Given the description of an element on the screen output the (x, y) to click on. 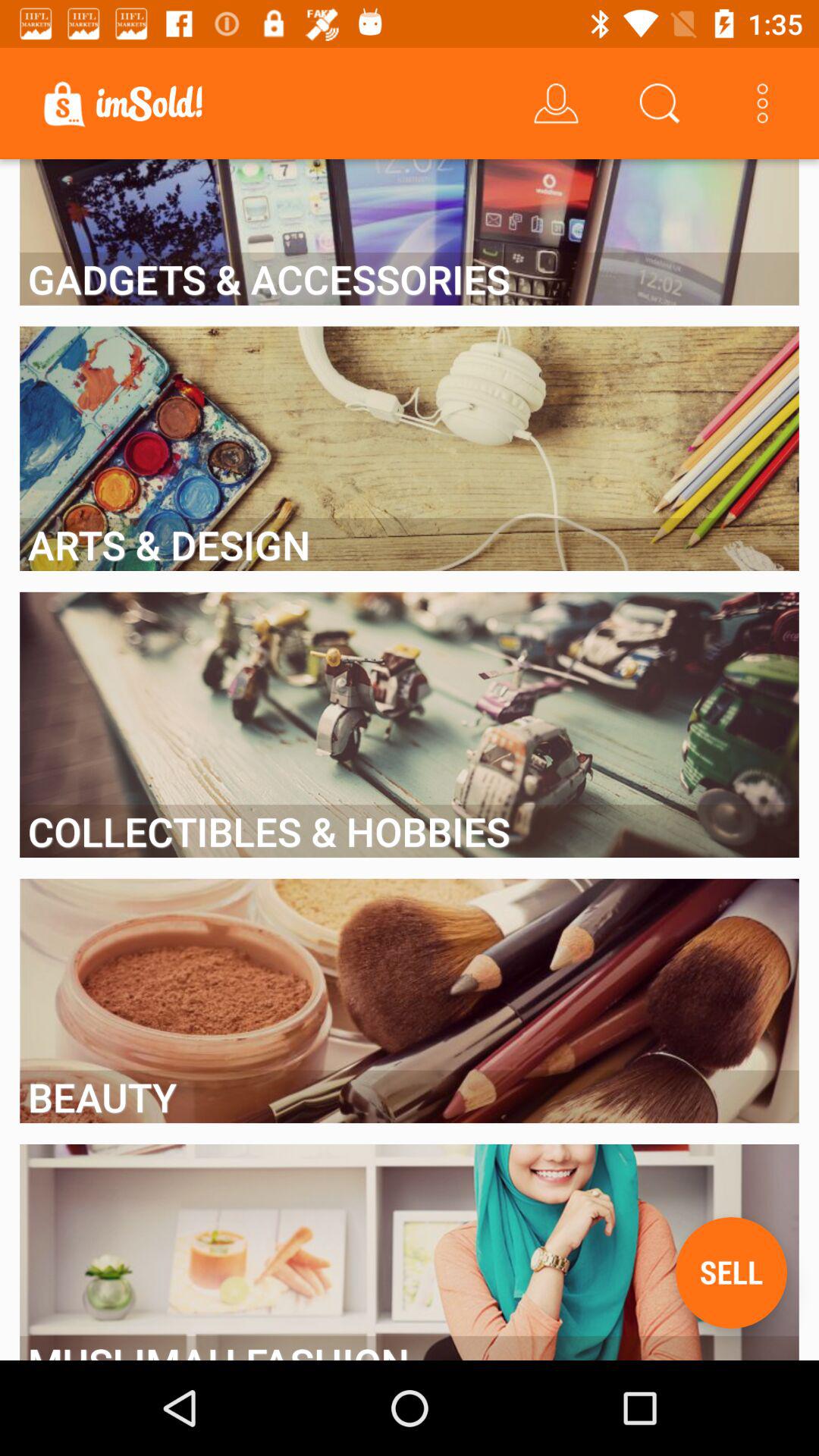
scroll to the collectibles & hobbies item (409, 830)
